Given the description of an element on the screen output the (x, y) to click on. 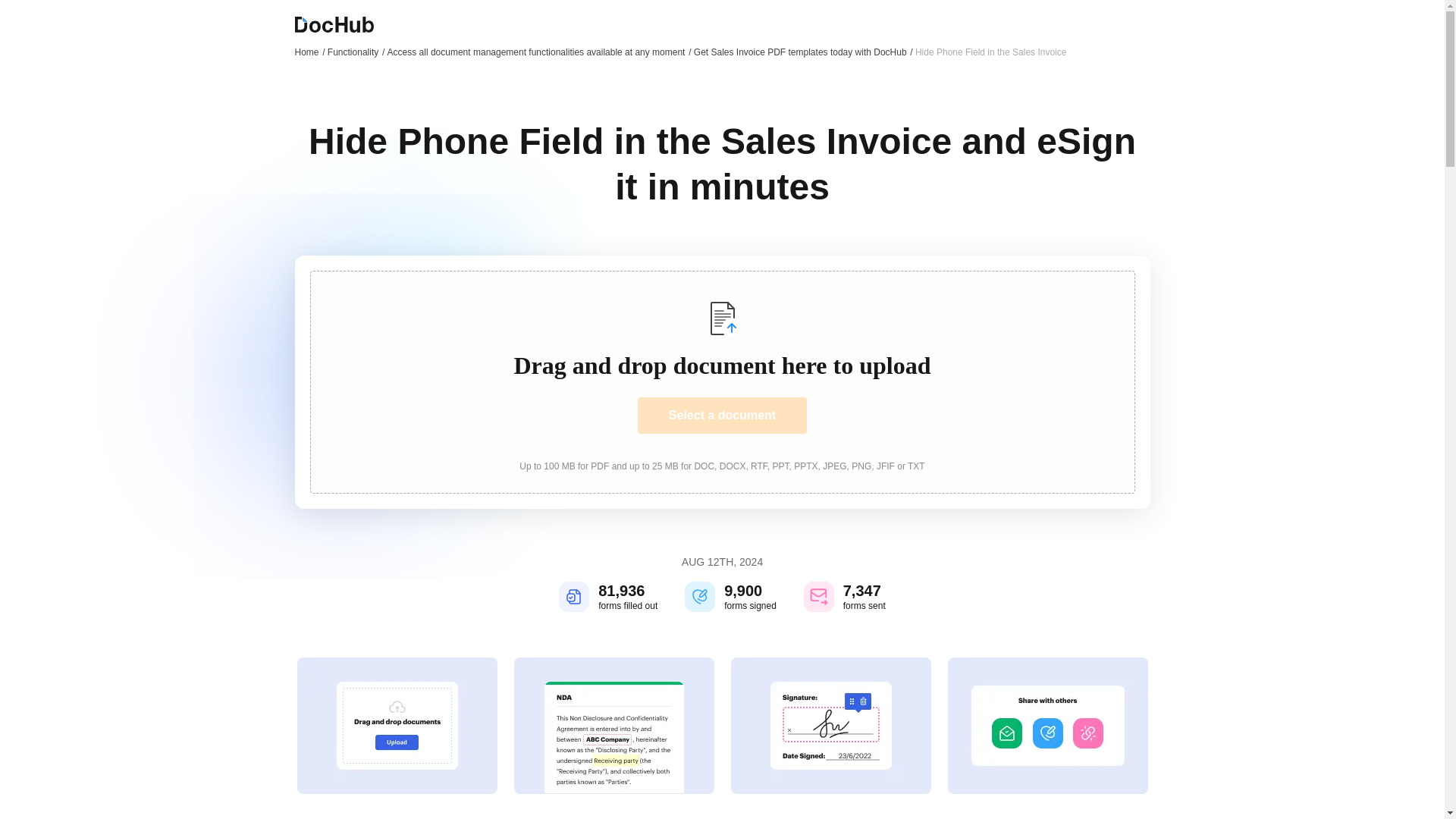
Select a document (721, 415)
Functionality (355, 51)
Get Sales Invoice PDF templates today with DocHub (803, 51)
Home (309, 51)
